Given the description of an element on the screen output the (x, y) to click on. 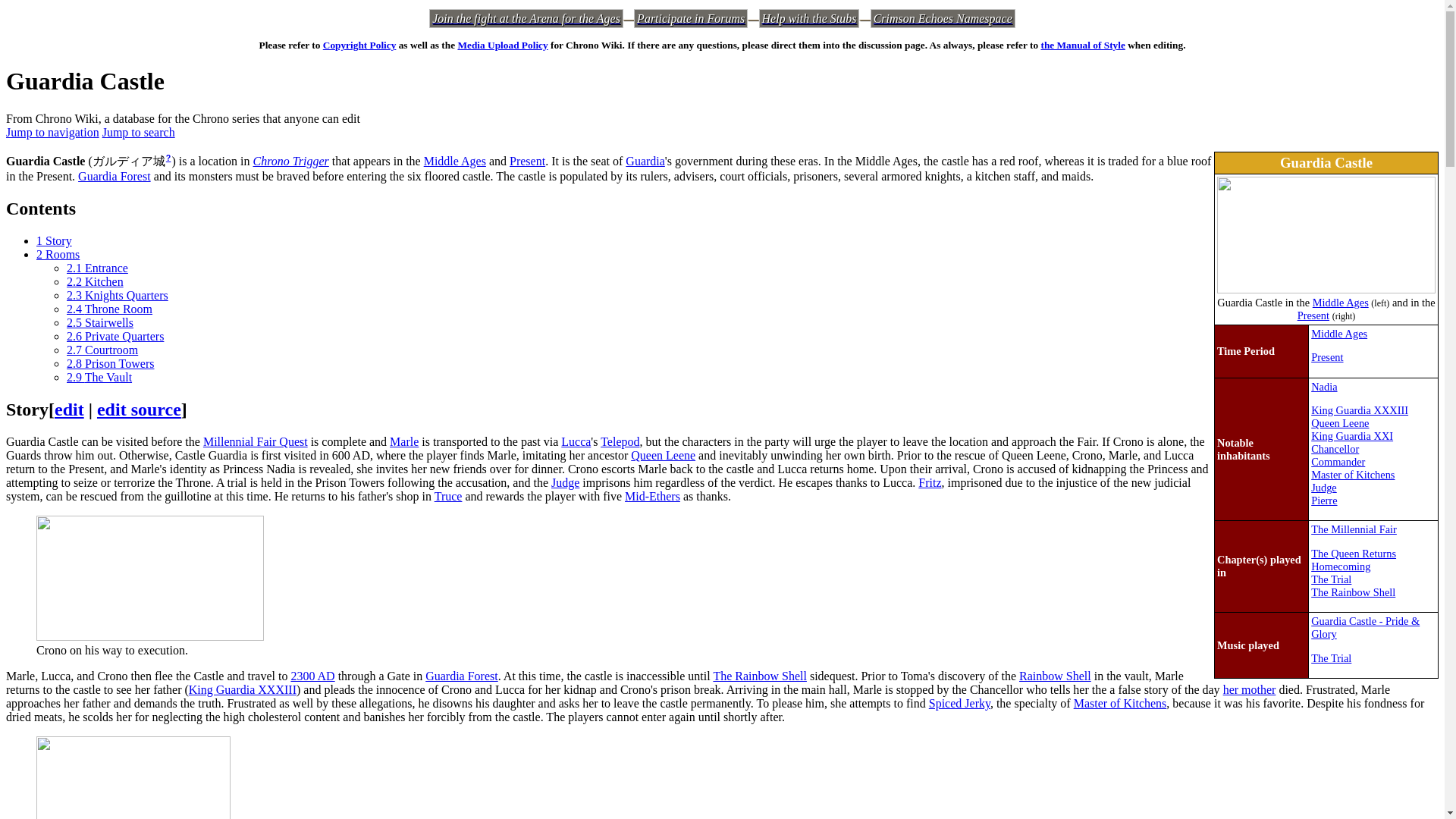
Media Upload Policy (502, 44)
Crimson Echoes:About (942, 18)
2.1 Entrance (97, 267)
Help with the Stubs (809, 18)
Present (526, 160)
Participate in Forums (690, 18)
King Guardia XXI (1352, 435)
Crimson Echoes Namespace (942, 18)
Queen Leene (1339, 422)
The Queen Returns (1353, 553)
The Rainbow Shell (1352, 592)
The Trial (1331, 657)
Judge (1323, 487)
Homecoming (1340, 566)
1 Story (53, 240)
